Given the description of an element on the screen output the (x, y) to click on. 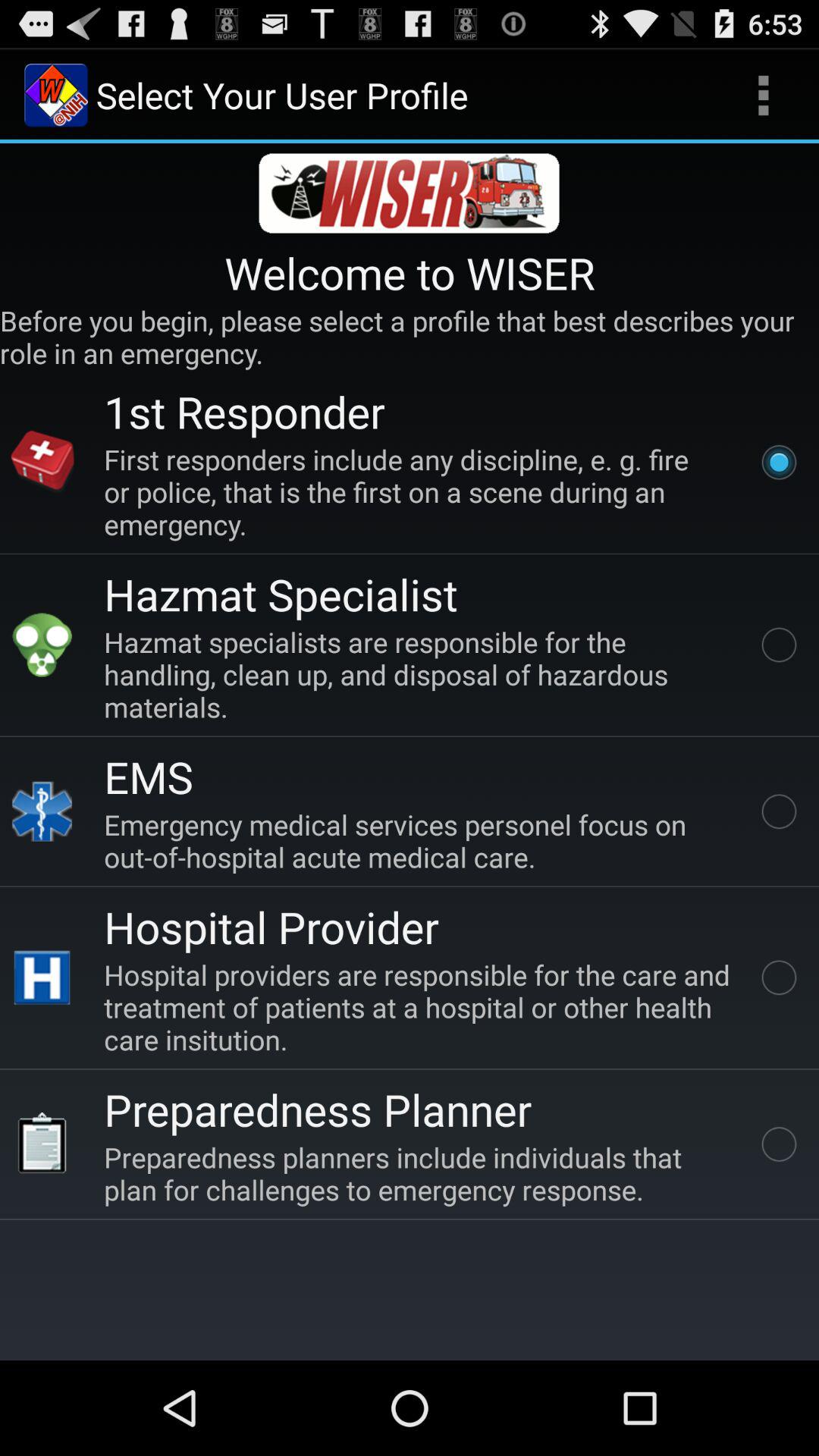
turn off the item below hazmat specialist (420, 674)
